Given the description of an element on the screen output the (x, y) to click on. 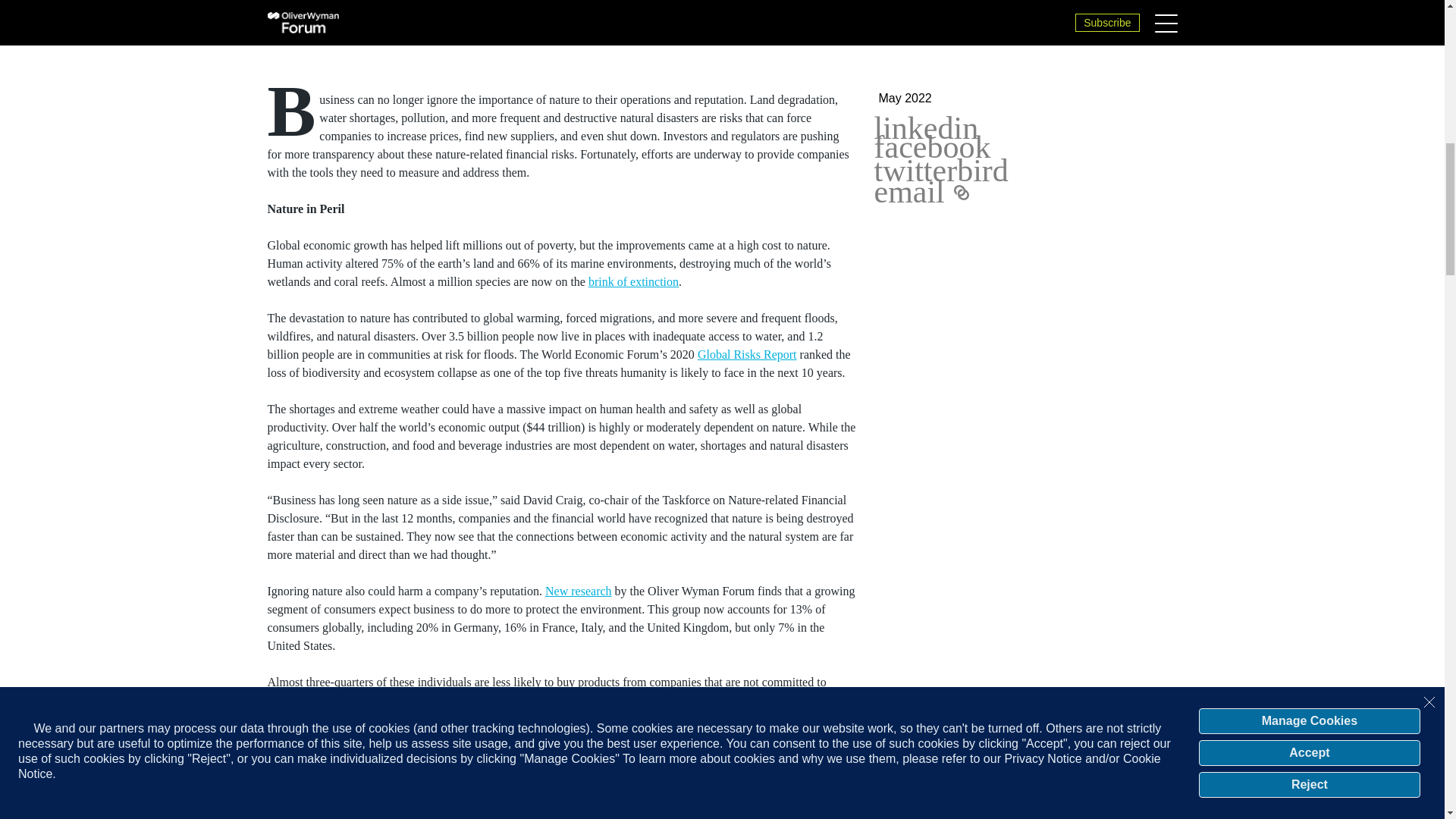
New research (577, 590)
Global Risks Report (746, 354)
twitterbird (940, 170)
New research (577, 590)
brink of extinction (633, 281)
sequestration (716, 809)
email (908, 191)
sequestration  (716, 809)
Global Risks Report (746, 354)
linkedin (925, 127)
brink of extinction. (633, 281)
facebook (931, 146)
